Given the description of an element on the screen output the (x, y) to click on. 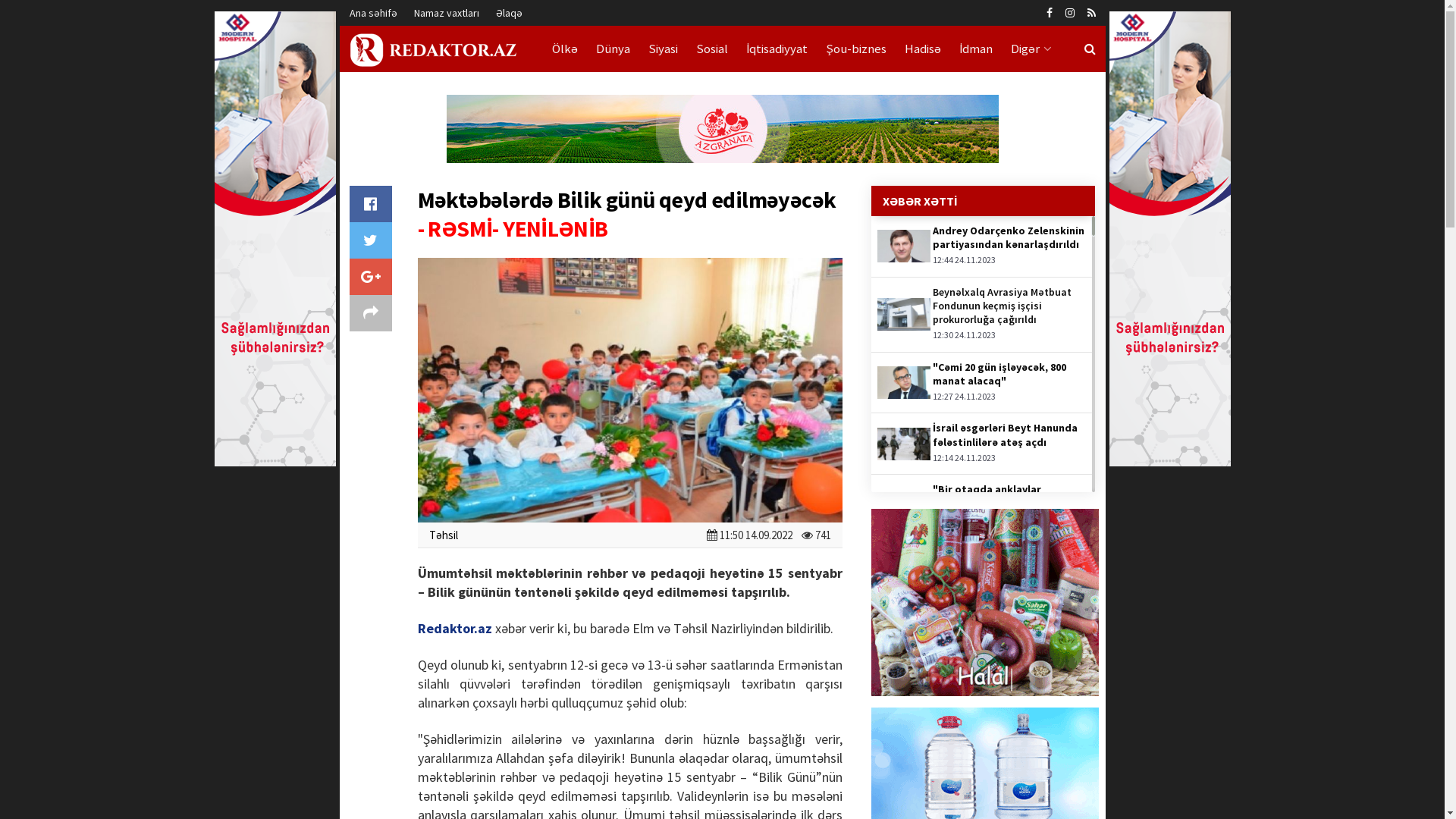
Siyasi Element type: text (662, 48)
Redaktor.az Element type: text (454, 628)
Sosial Element type: text (712, 48)
